Given the description of an element on the screen output the (x, y) to click on. 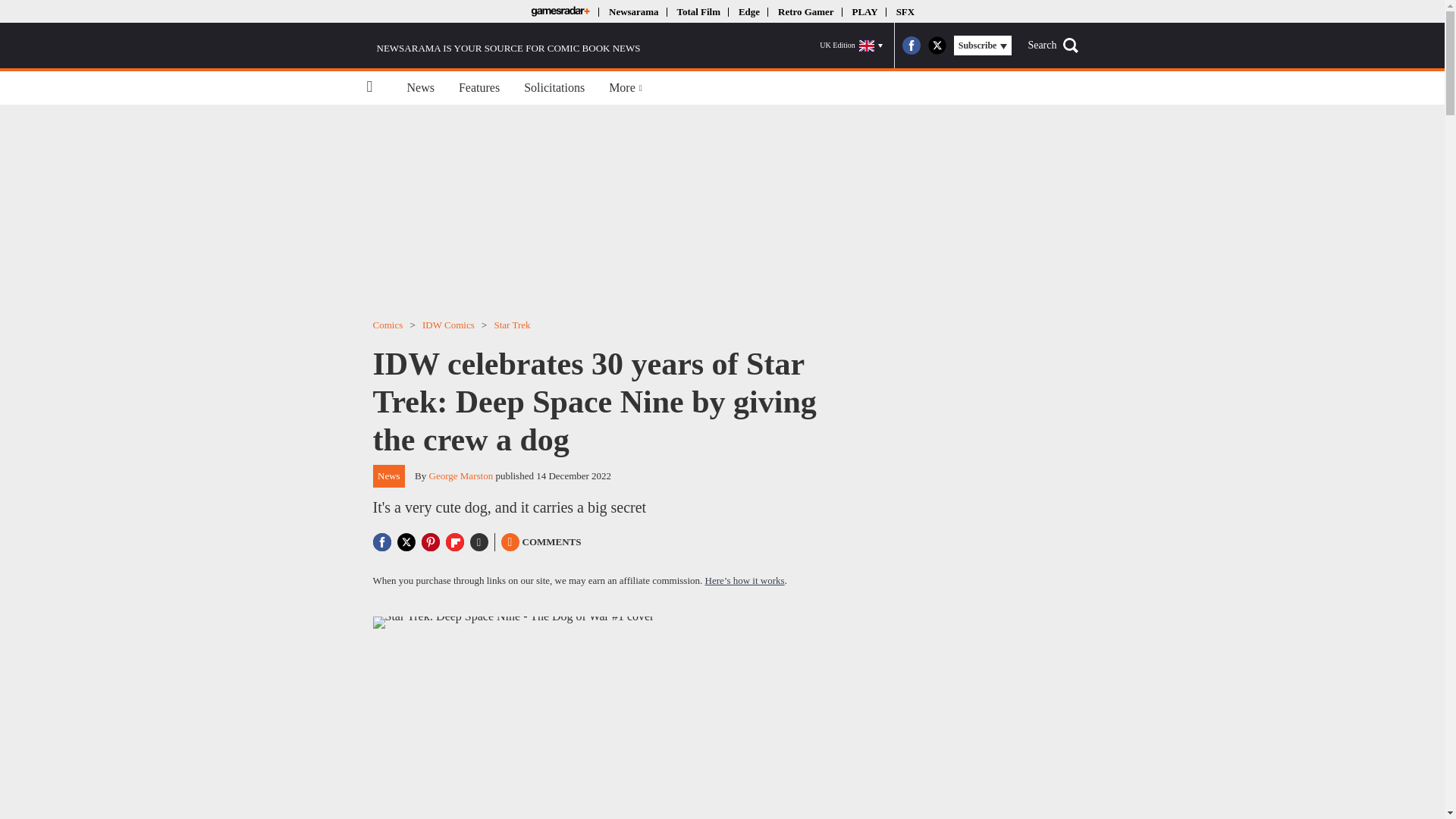
NEWSARAMA IS YOUR SOURCE FOR COMIC BOOK NEWS (503, 44)
Star Trek (511, 324)
News (389, 476)
Newsarama (633, 11)
George Marston (461, 475)
News (419, 87)
Total Film (698, 11)
SFX (905, 11)
PLAY (864, 11)
Comics (387, 324)
IDW Comics (448, 324)
Features (479, 87)
Solicitations (554, 87)
UK Edition (850, 45)
Retro Gamer (805, 11)
